Given the description of an element on the screen output the (x, y) to click on. 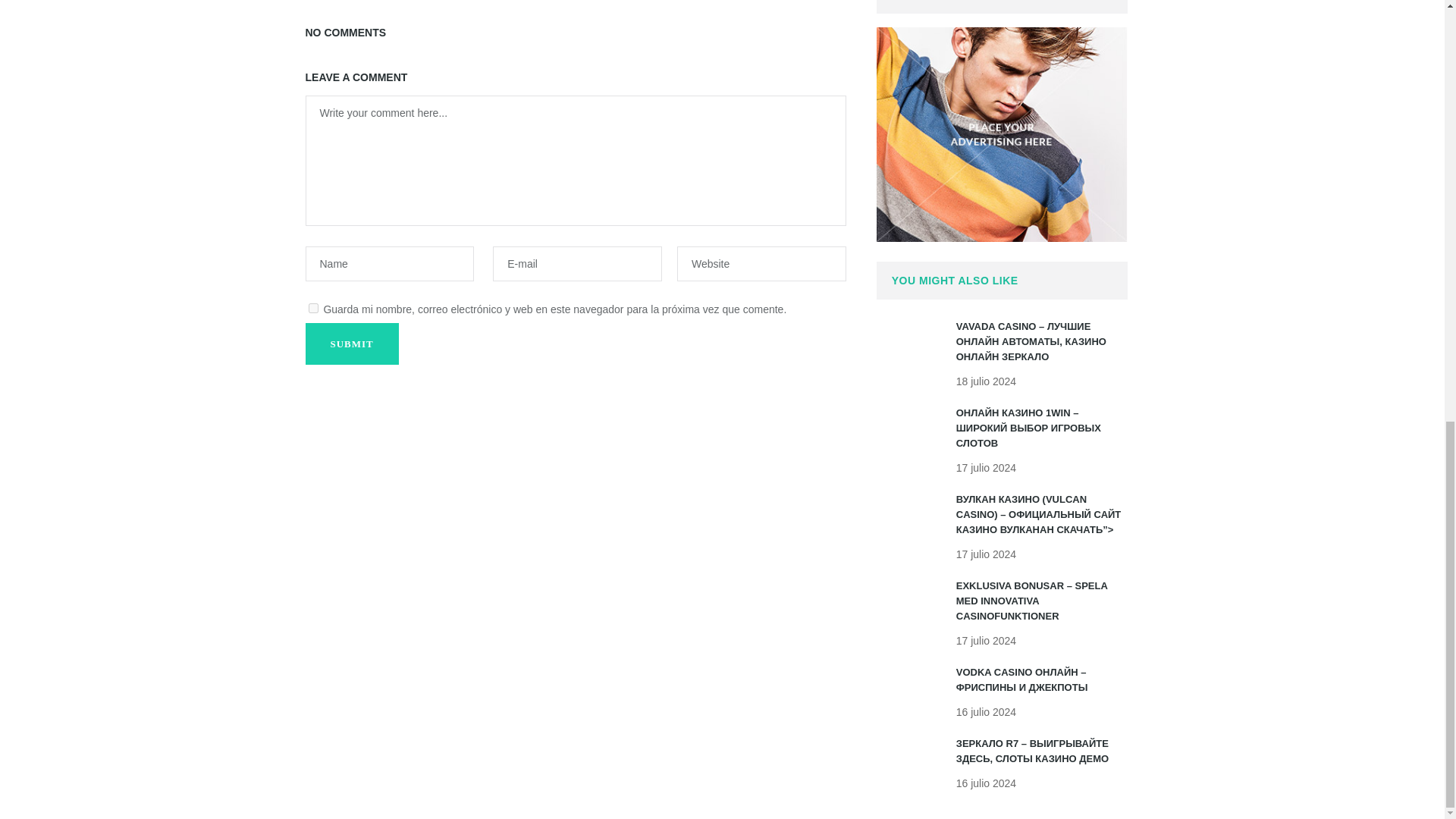
Submit (350, 343)
Submit (350, 343)
yes (312, 307)
